Given the description of an element on the screen output the (x, y) to click on. 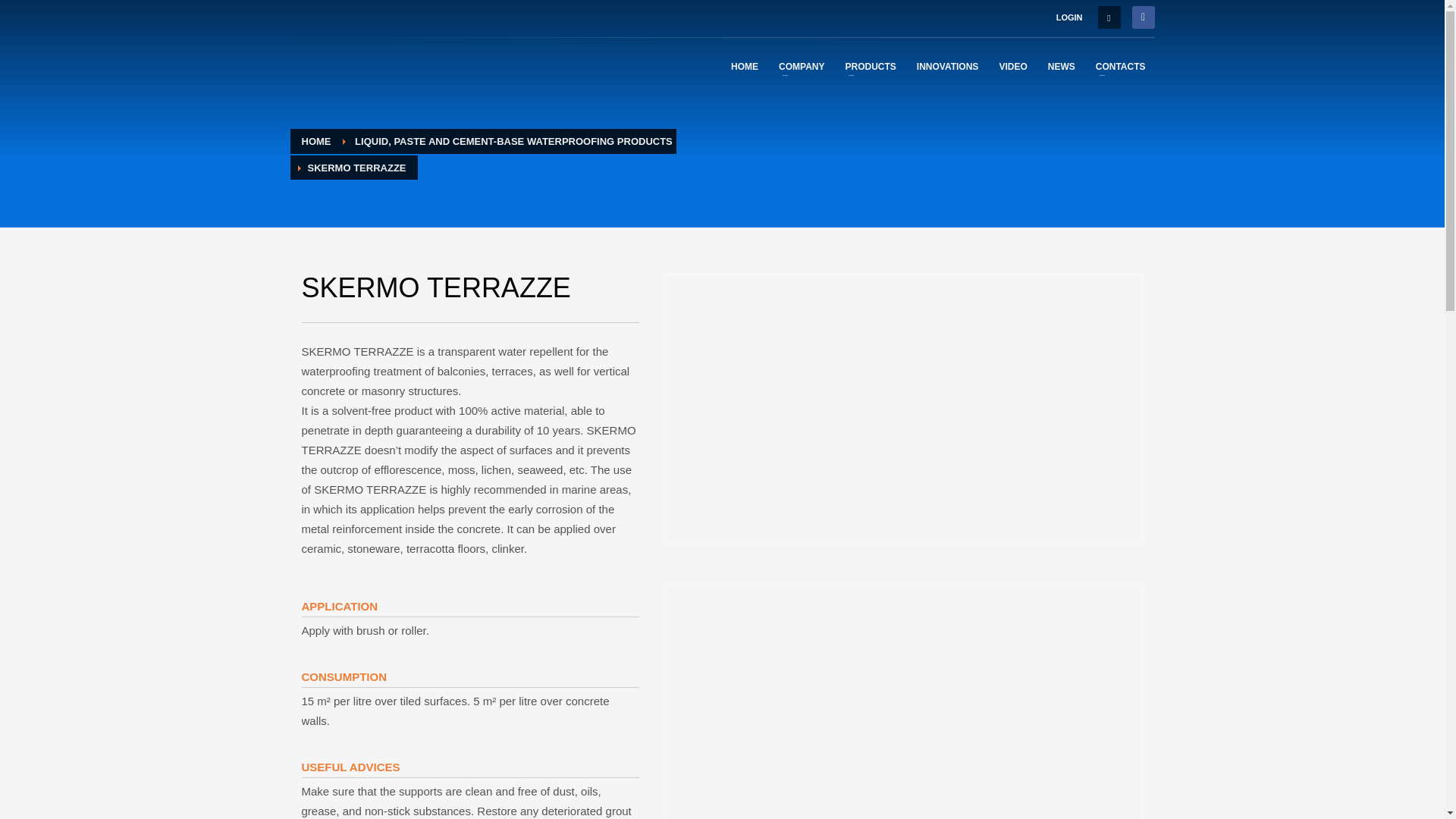
PRODUCTS (869, 66)
COMPANY (801, 66)
Facebook (1142, 16)
HOME (744, 66)
INNOVATIONS (947, 66)
LOGIN (1070, 17)
